Given the description of an element on the screen output the (x, y) to click on. 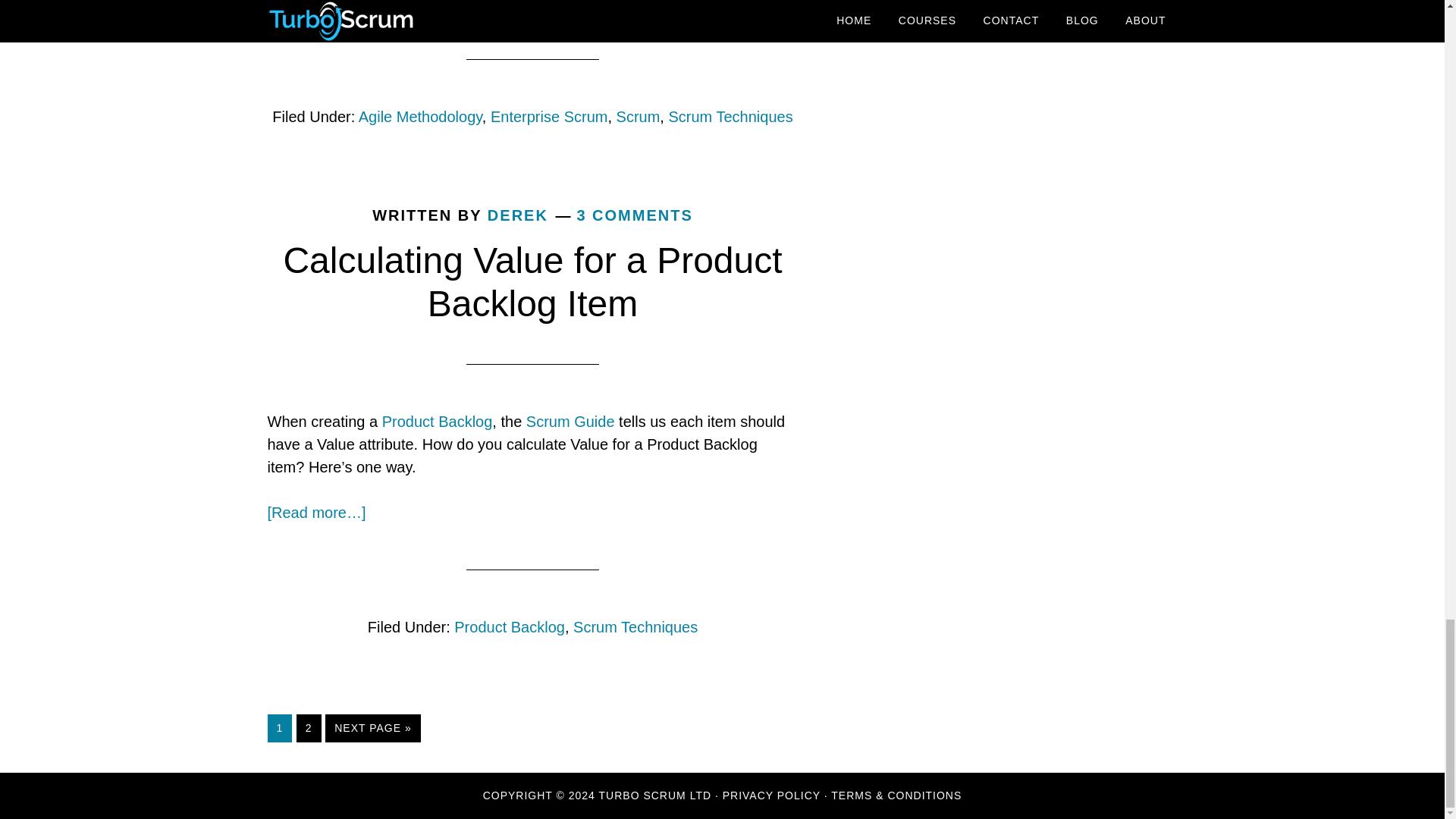
Create a Product Backlog (437, 421)
Enterprise Scrum (549, 116)
3 COMMENTS (634, 215)
Scrum (638, 116)
Calculating Value for a Product Backlog Item (531, 282)
DEREK (517, 215)
Agile Methodology (419, 116)
Scrum Techniques (730, 116)
